Given the description of an element on the screen output the (x, y) to click on. 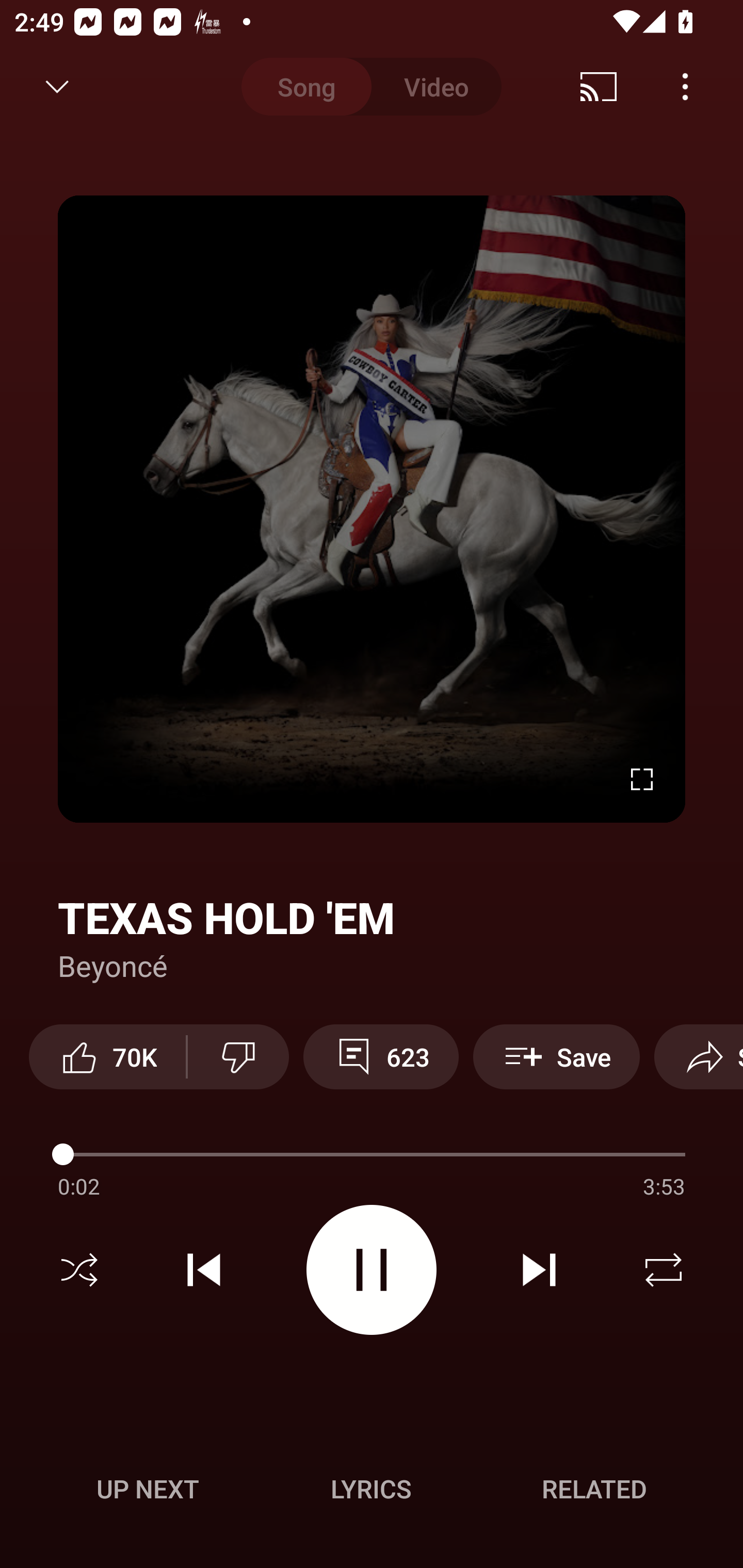
Minimize (57, 86)
Share (605, 86)
Search (692, 86)
70K like this video along with 70,240 other people (106, 1056)
Dislike (238, 1056)
623 View 623 comments (380, 1056)
Save Save to playlist (556, 1056)
Share (698, 1056)
Action menu (371, 1157)
Pause video (371, 1269)
Shuffle off (79, 1269)
Previous track (203, 1269)
Next track (538, 1269)
Repeat off (663, 1269)
Up next UP NEXT Lyrics LYRICS Related RELATED (371, 1491)
Lyrics LYRICS (370, 1488)
Related RELATED (594, 1488)
